Given the description of an element on the screen output the (x, y) to click on. 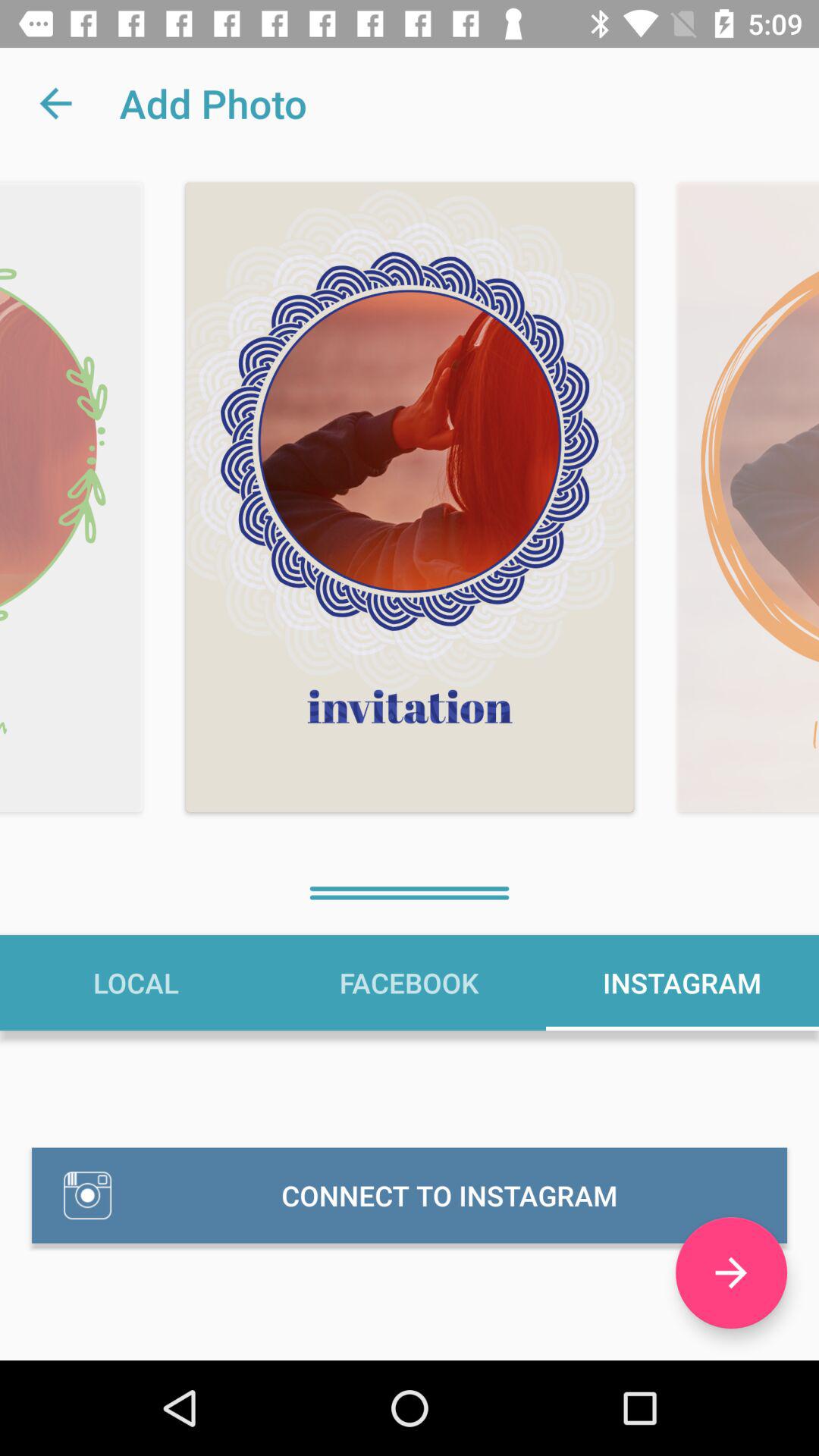
launch the connect to instagram icon (409, 1195)
